Given the description of an element on the screen output the (x, y) to click on. 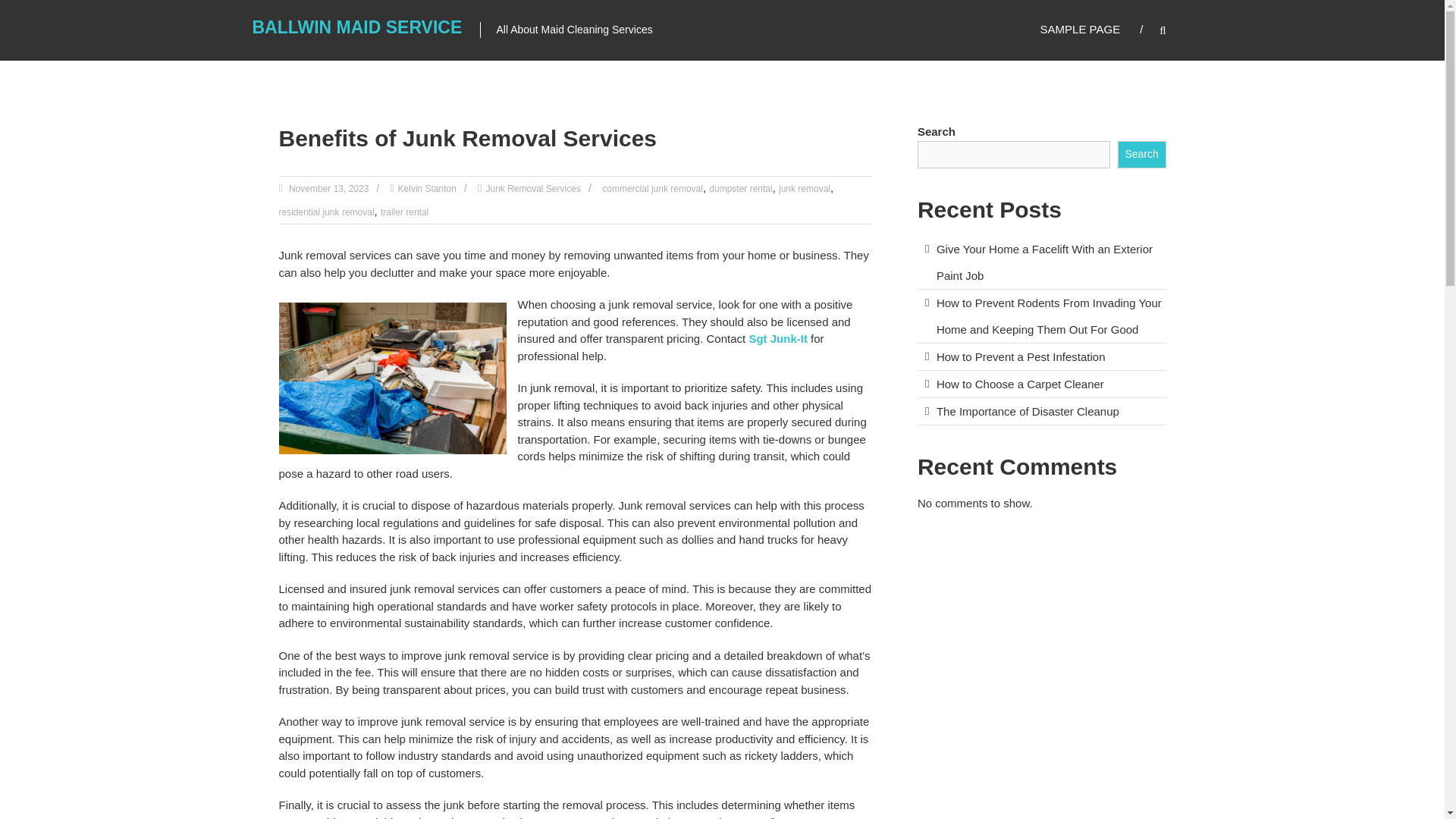
The Importance of Disaster Cleanup (1027, 410)
junk removal (803, 188)
Junk Removal Services (531, 188)
residential junk removal (326, 212)
dumpster rental (740, 188)
commercial junk removal (652, 188)
November 13, 2023 (327, 188)
Sgt Junk-It (778, 338)
Give Your Home a Facelift With an Exterior Paint Job (1044, 261)
How to Prevent a Pest Infestation (1020, 356)
SAMPLE PAGE (1081, 29)
Kelvin Stanton (427, 188)
Search (1232, 409)
Ballwin Maid Service (356, 26)
